Given the description of an element on the screen output the (x, y) to click on. 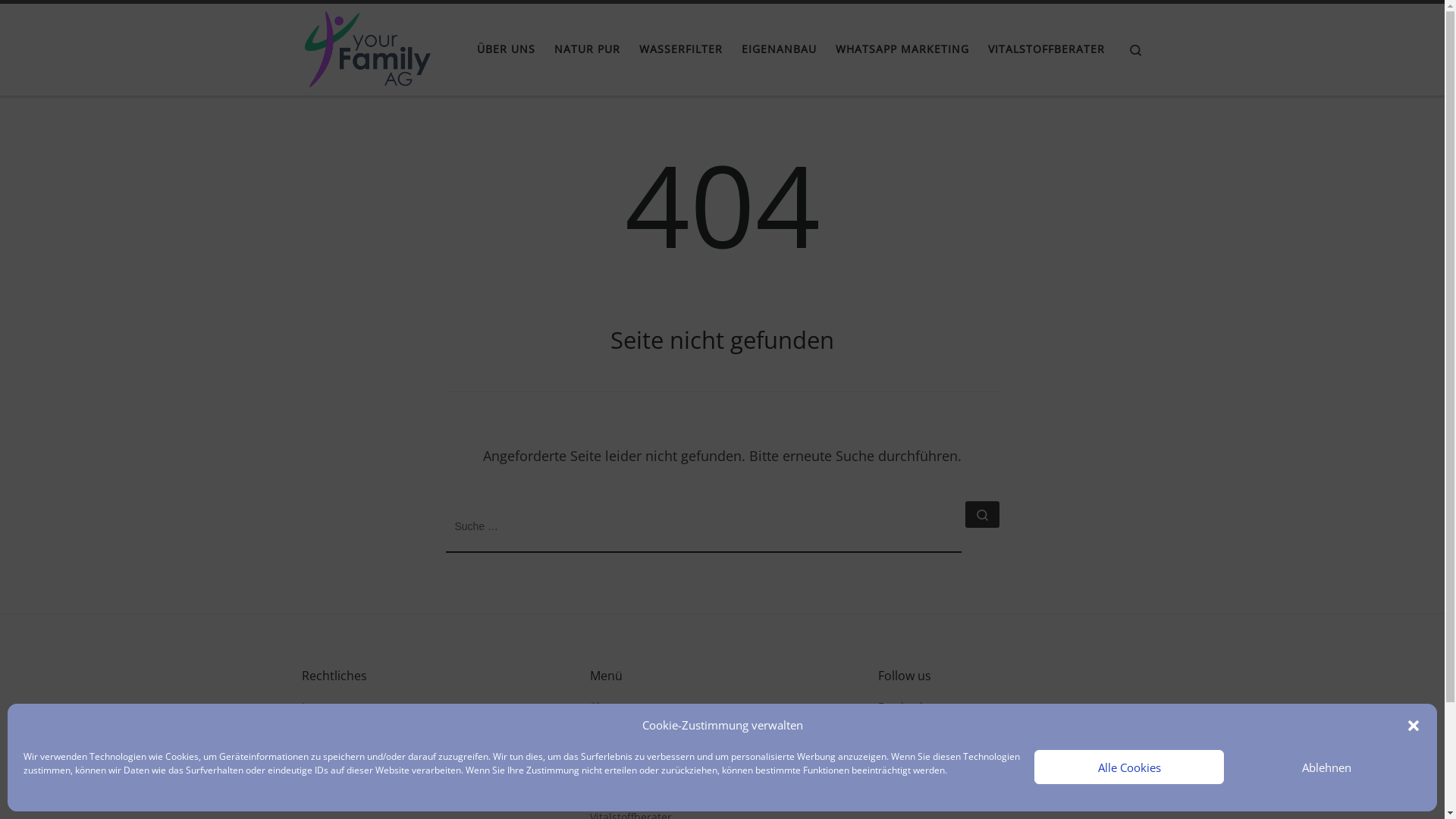
Facebook Element type: text (901, 707)
EIGENANBAU Element type: text (778, 49)
Zum Inhalt springen Element type: text (73, 21)
Natur pur Element type: text (614, 729)
Impressum Element type: text (330, 707)
Alle Cookies Element type: text (1128, 766)
WASSERFILTER Element type: text (680, 49)
Datenschutz Element type: text (333, 729)
Youtube Element type: text (899, 751)
Wasserfilter Element type: text (619, 751)
Whatsapp Marketing Element type: text (642, 795)
NATUR PUR Element type: text (586, 49)
Instagram Element type: text (903, 729)
Search Element type: text (1135, 49)
Ablehnen Element type: text (1326, 766)
WHATSAPP MARKETING Element type: text (901, 49)
VITALSTOFFBERATER Element type: text (1045, 49)
Eigenanbau Element type: text (619, 773)
